Given the description of an element on the screen output the (x, y) to click on. 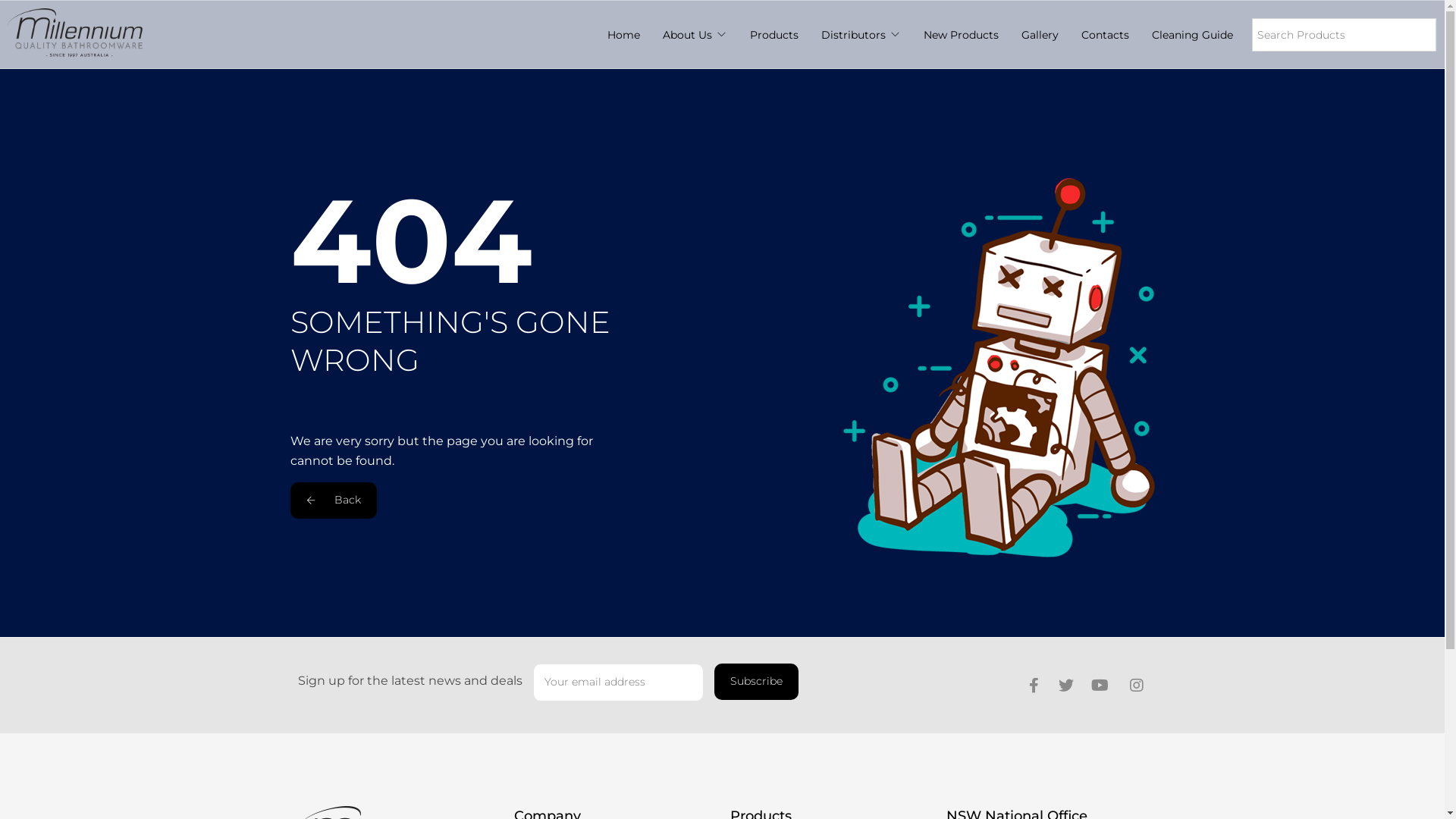
Cleaning Guide Element type: text (1192, 34)
Contacts Element type: text (1105, 34)
Distributors Element type: text (853, 34)
About Us Element type: text (687, 34)
Home Element type: text (623, 34)
Subscribe Element type: text (756, 681)
New Products Element type: text (960, 34)
Back Element type: text (332, 500)
Gallery Element type: text (1039, 34)
Products Element type: text (773, 34)
